Given the description of an element on the screen output the (x, y) to click on. 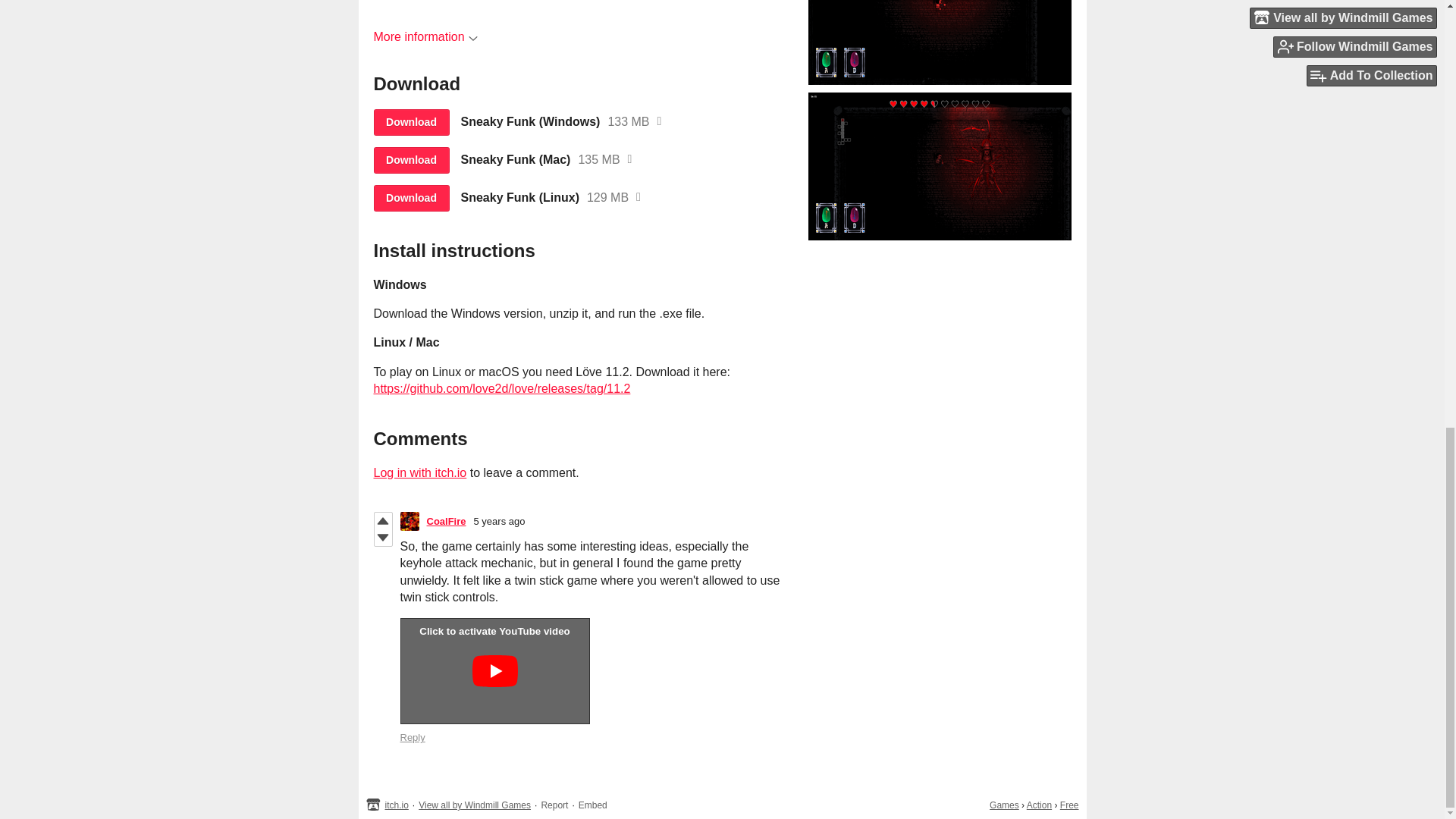
Vote down (382, 537)
Download (410, 198)
Download (410, 160)
CoalFire (445, 521)
Reply (412, 737)
5 years ago (499, 521)
More information (424, 36)
Log in with itch.io (418, 472)
2018-11-02 16:31:10 (499, 521)
Download (410, 121)
Vote up (382, 520)
